Given the description of an element on the screen output the (x, y) to click on. 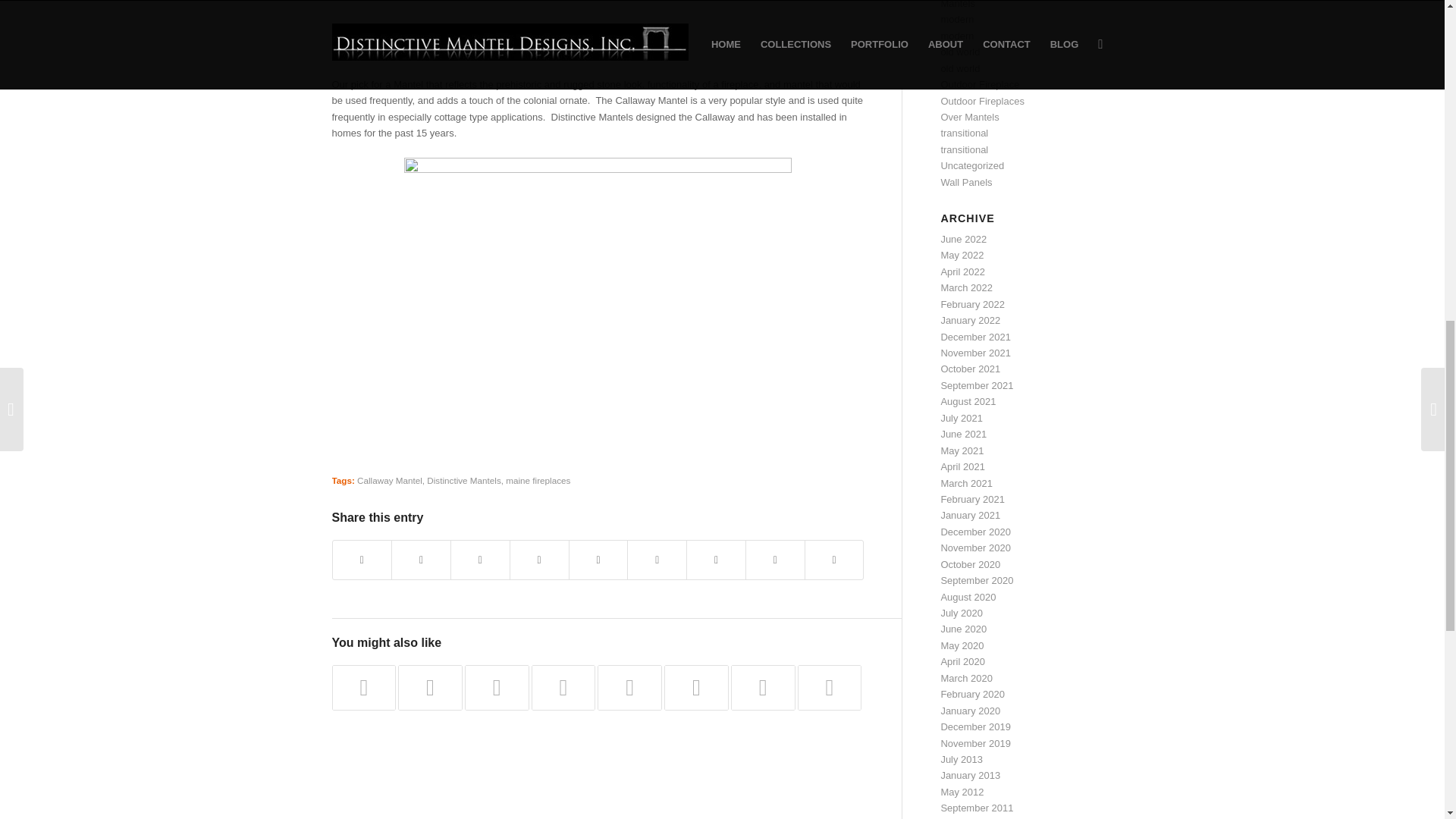
Callaway Mantel (389, 480)
maine fireplaces (537, 480)
Maine Lighthouse (597, 21)
Distinctive Mantels (463, 480)
